Given the description of an element on the screen output the (x, y) to click on. 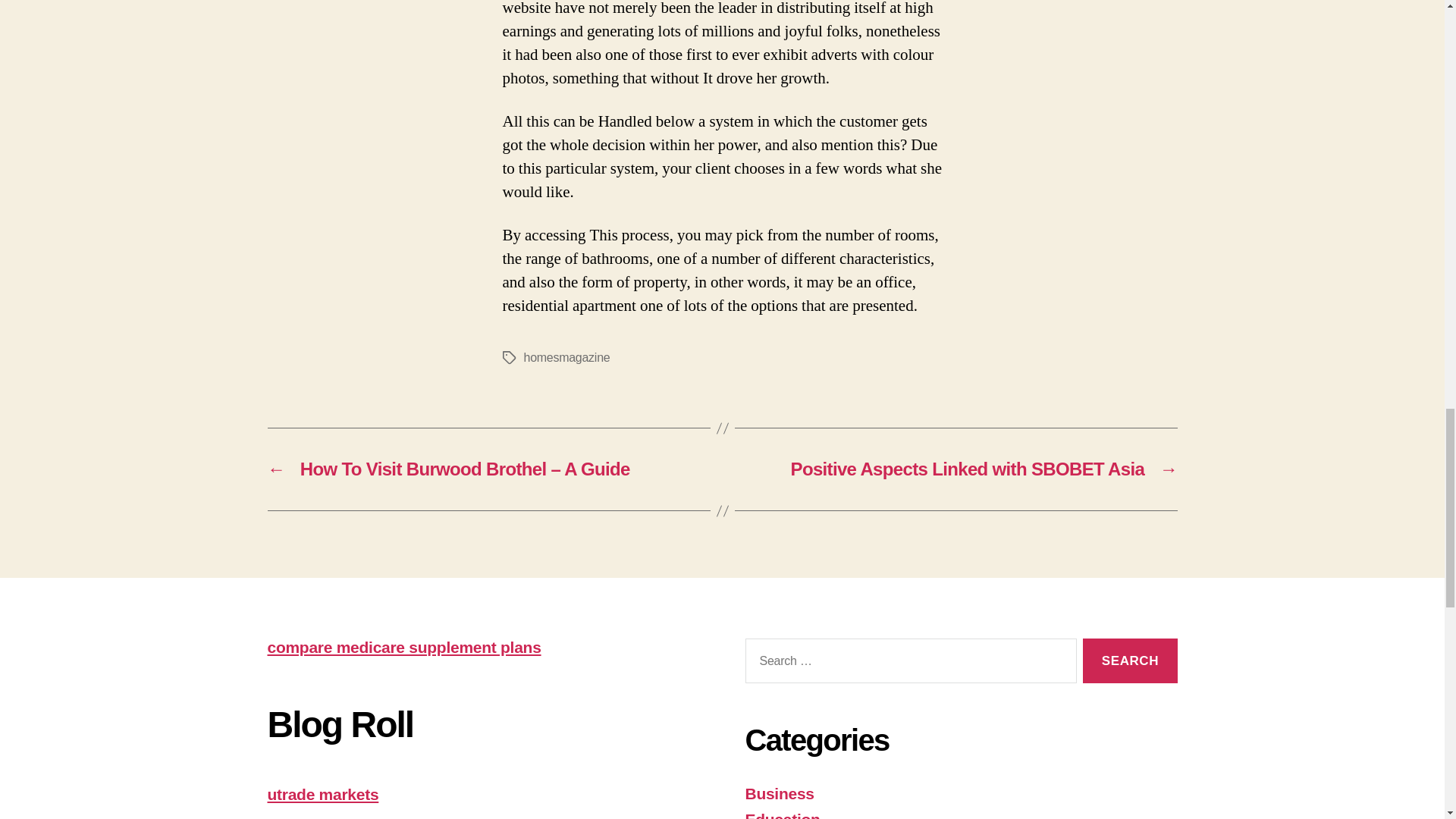
Search (1129, 660)
homesmagazine (566, 357)
Education (781, 814)
Search (1129, 660)
Business (778, 793)
utrade markets (322, 794)
compare medicare supplement plans (403, 647)
Search (1129, 660)
